Given the description of an element on the screen output the (x, y) to click on. 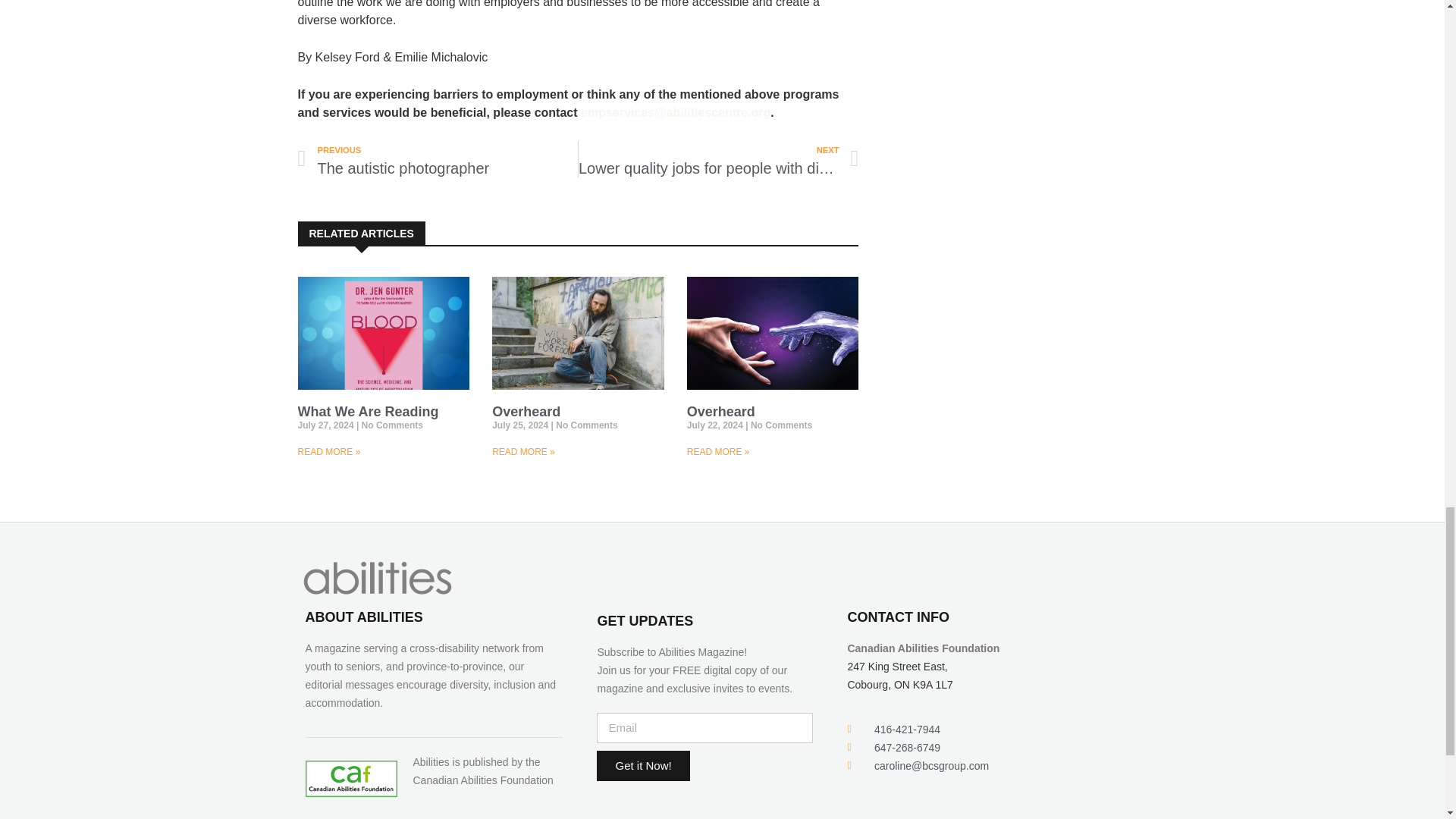
bcs-abilities-logo-header-1-2 (376, 577)
What We Are Reading (367, 411)
